Given the description of an element on the screen output the (x, y) to click on. 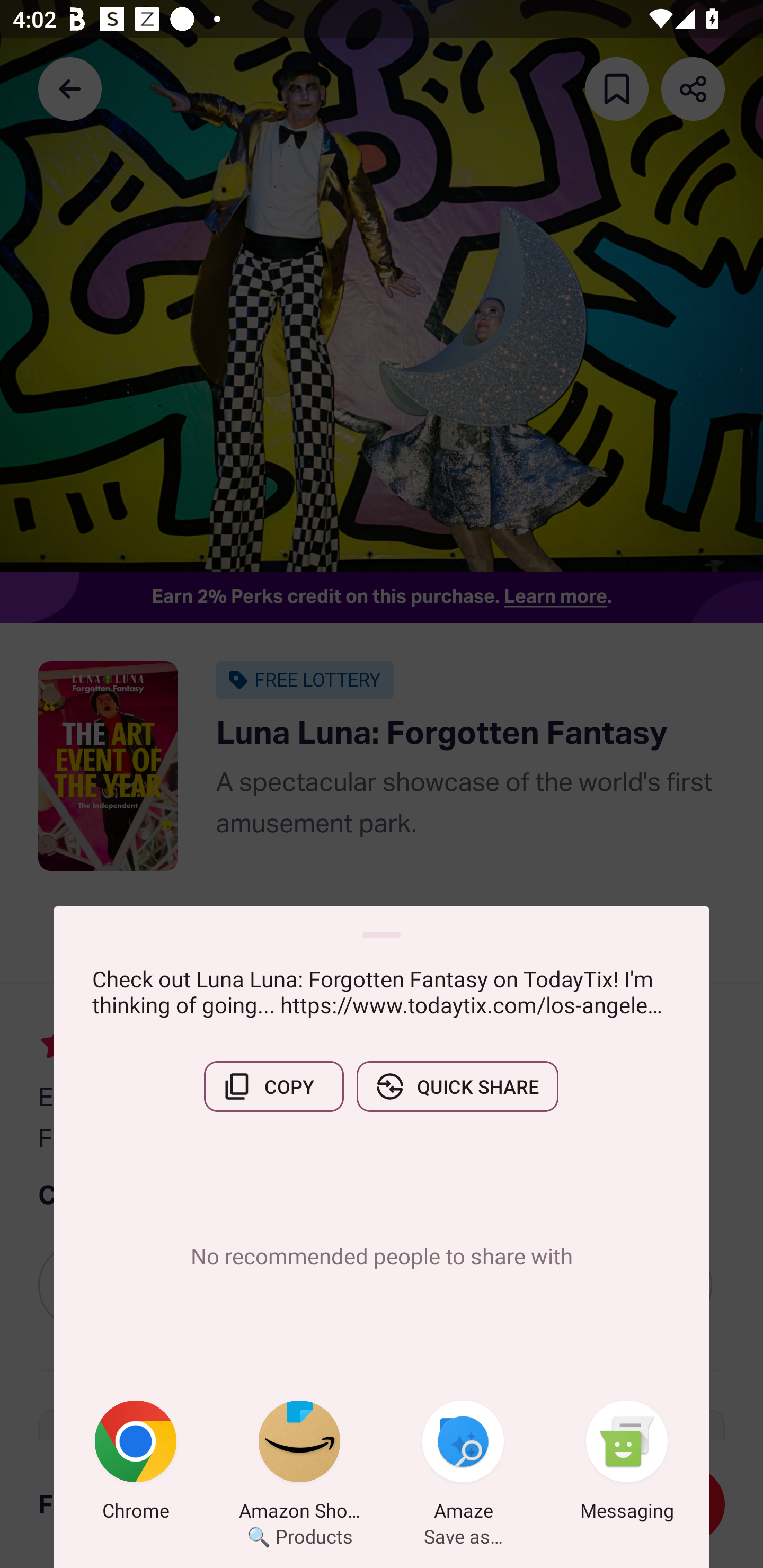
COPY (273, 1086)
QUICK SHARE (457, 1086)
Chrome (135, 1463)
Amazon Shopping 🔍 Products (299, 1463)
Amaze Save as… (463, 1463)
Messaging (626, 1463)
